Given the description of an element on the screen output the (x, y) to click on. 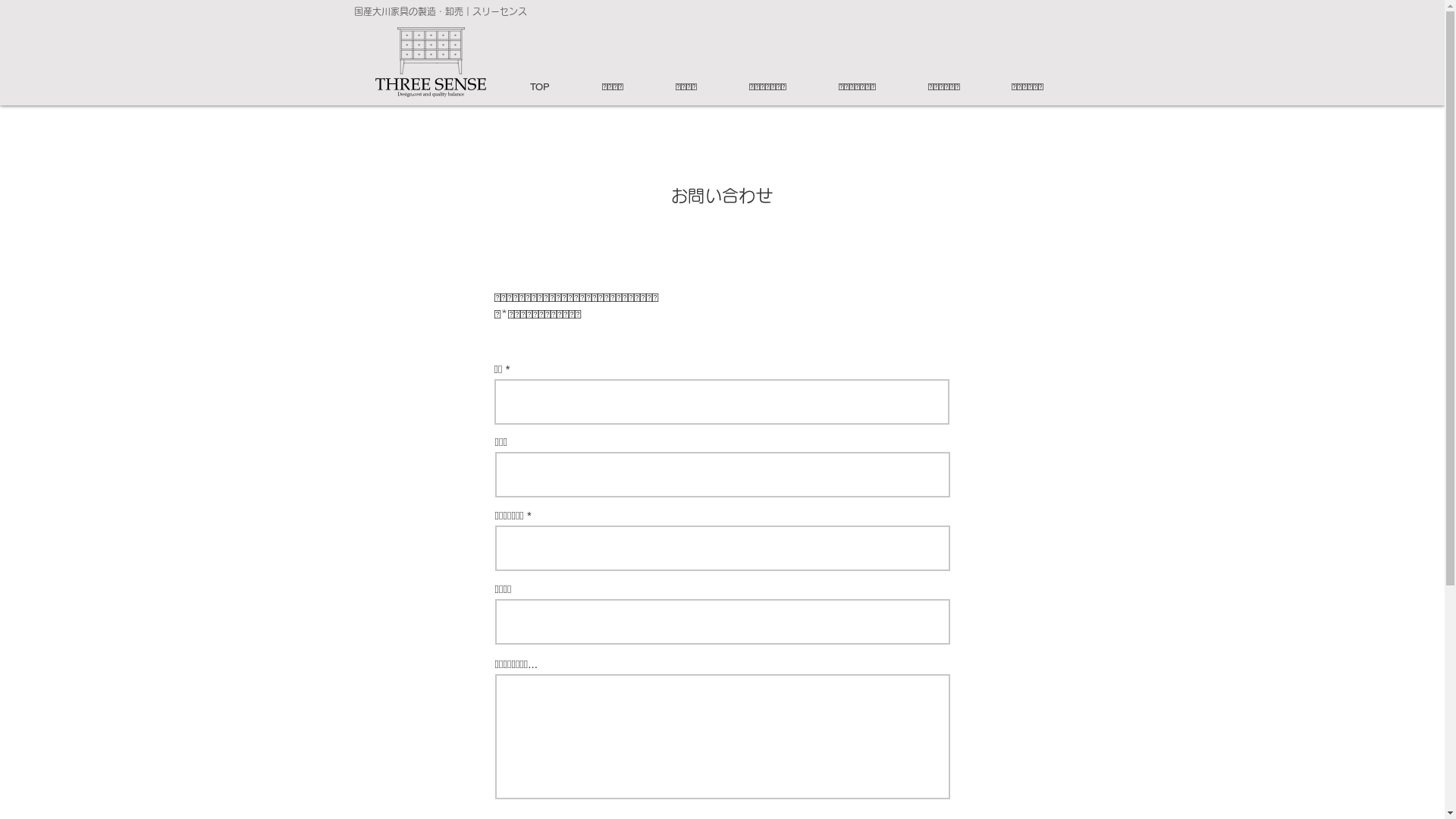
TOP Element type: text (554, 86)
